Given the description of an element on the screen output the (x, y) to click on. 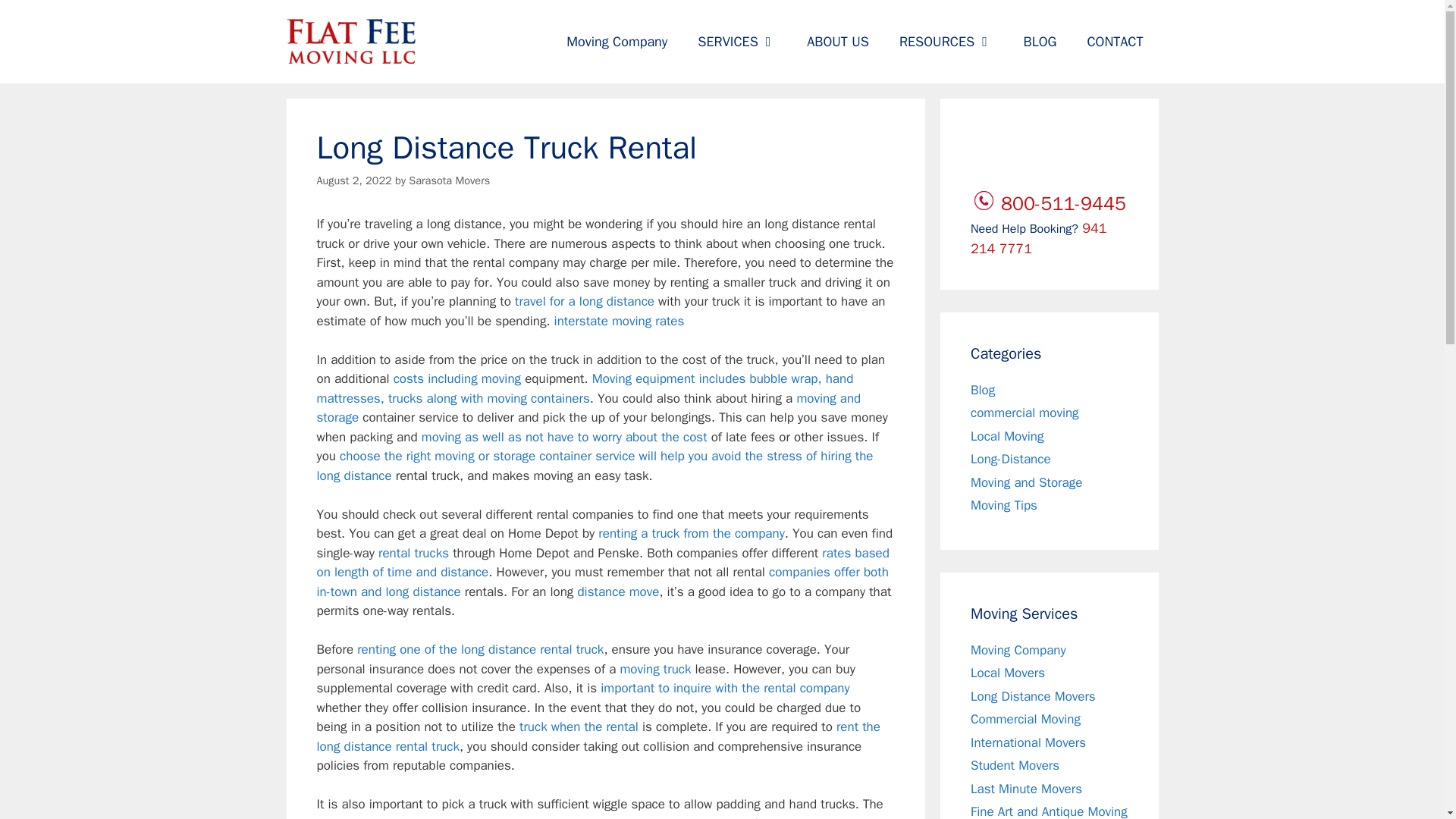
costs including moving (457, 378)
Cheapest Way to Move Long Distances with Moving Containers (585, 388)
rental trucks (413, 553)
moving and storage (589, 407)
interstate moving rates (619, 320)
RESOURCES (946, 41)
distance move (617, 591)
